Given the description of an element on the screen output the (x, y) to click on. 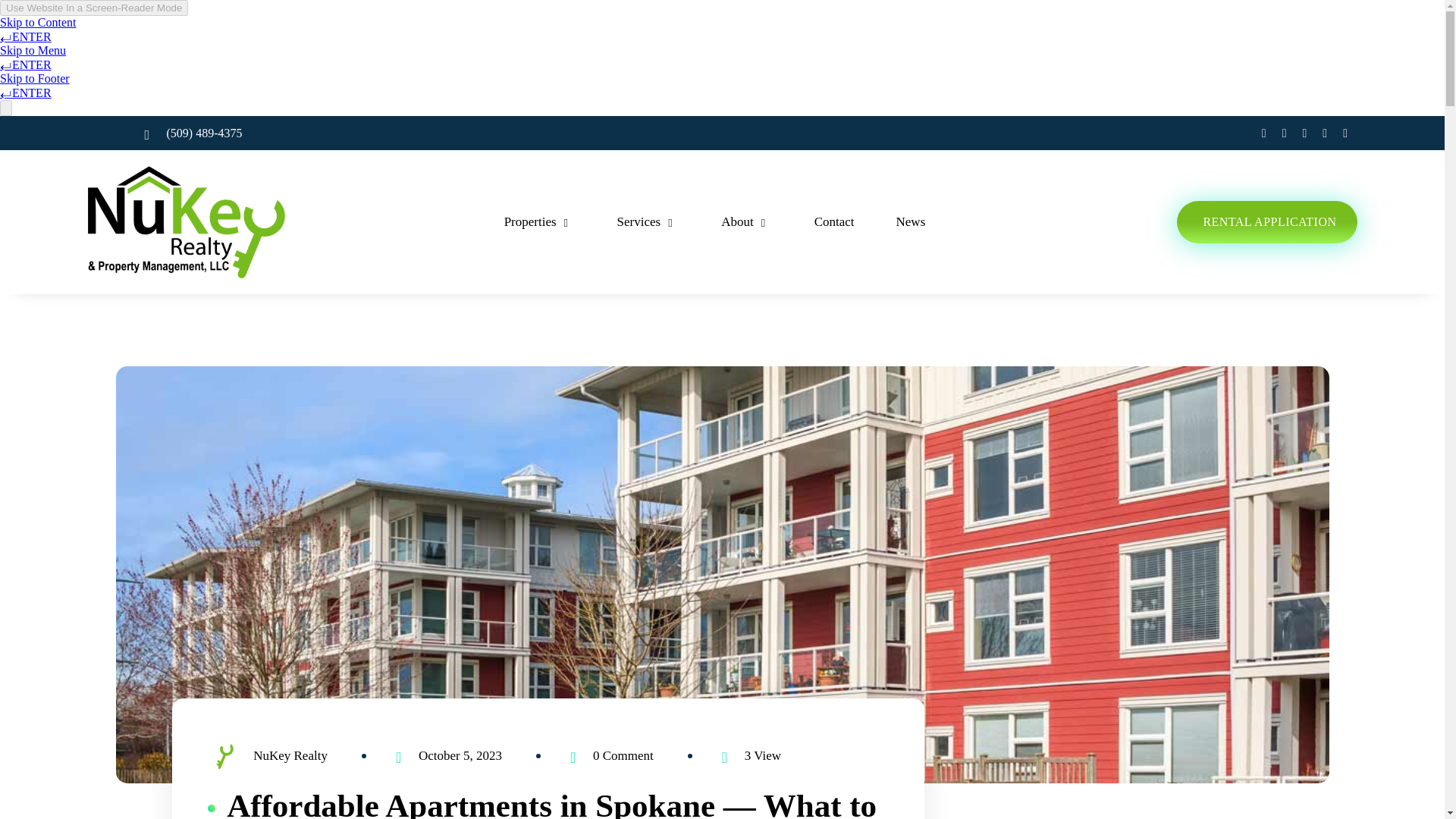
RENTAL APPLICATION (1266, 221)
Properties (539, 221)
Services (648, 221)
News (910, 221)
Contact (833, 221)
About (746, 221)
